Given the description of an element on the screen output the (x, y) to click on. 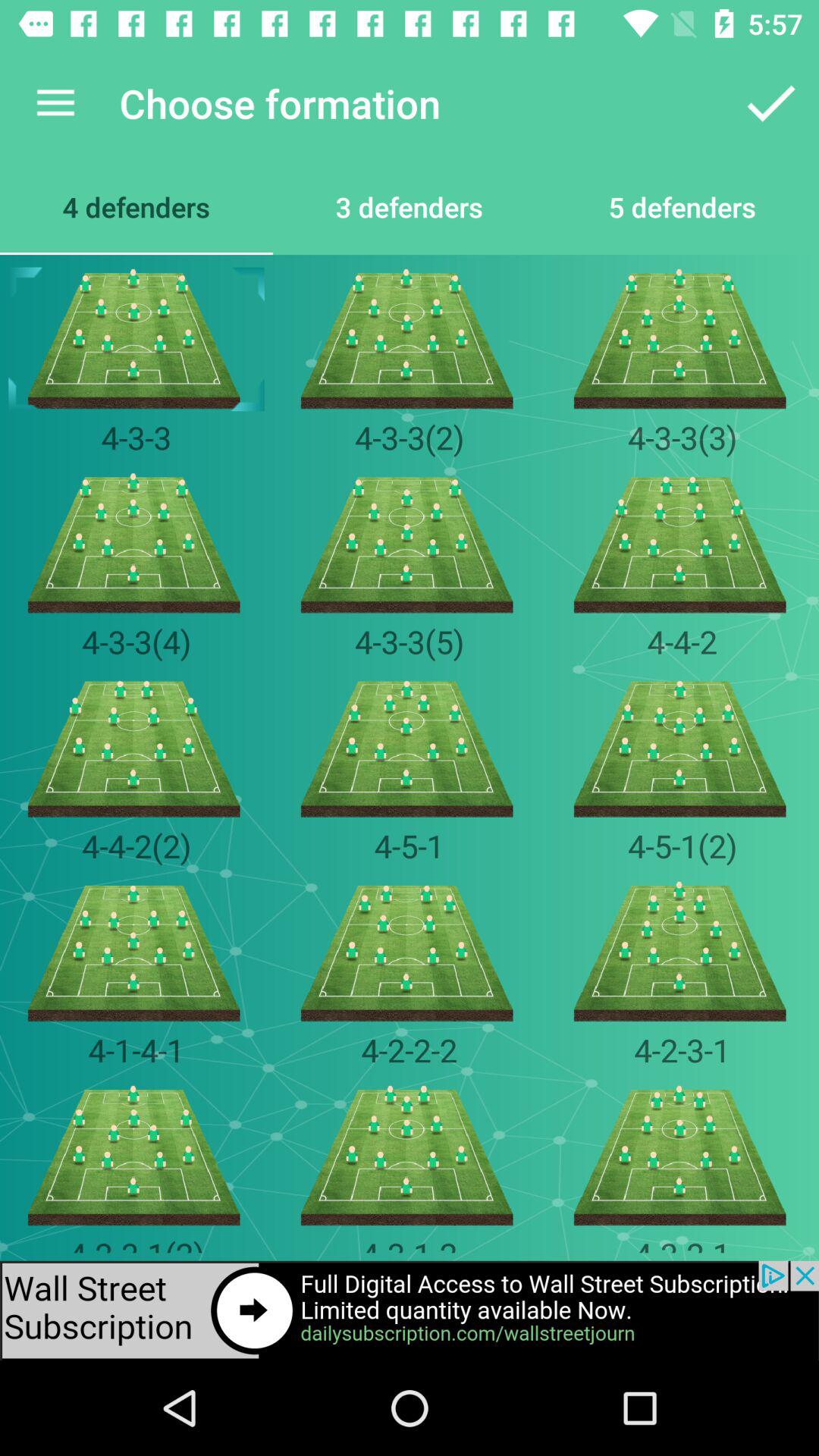
advertisement page (409, 1310)
